Given the description of an element on the screen output the (x, y) to click on. 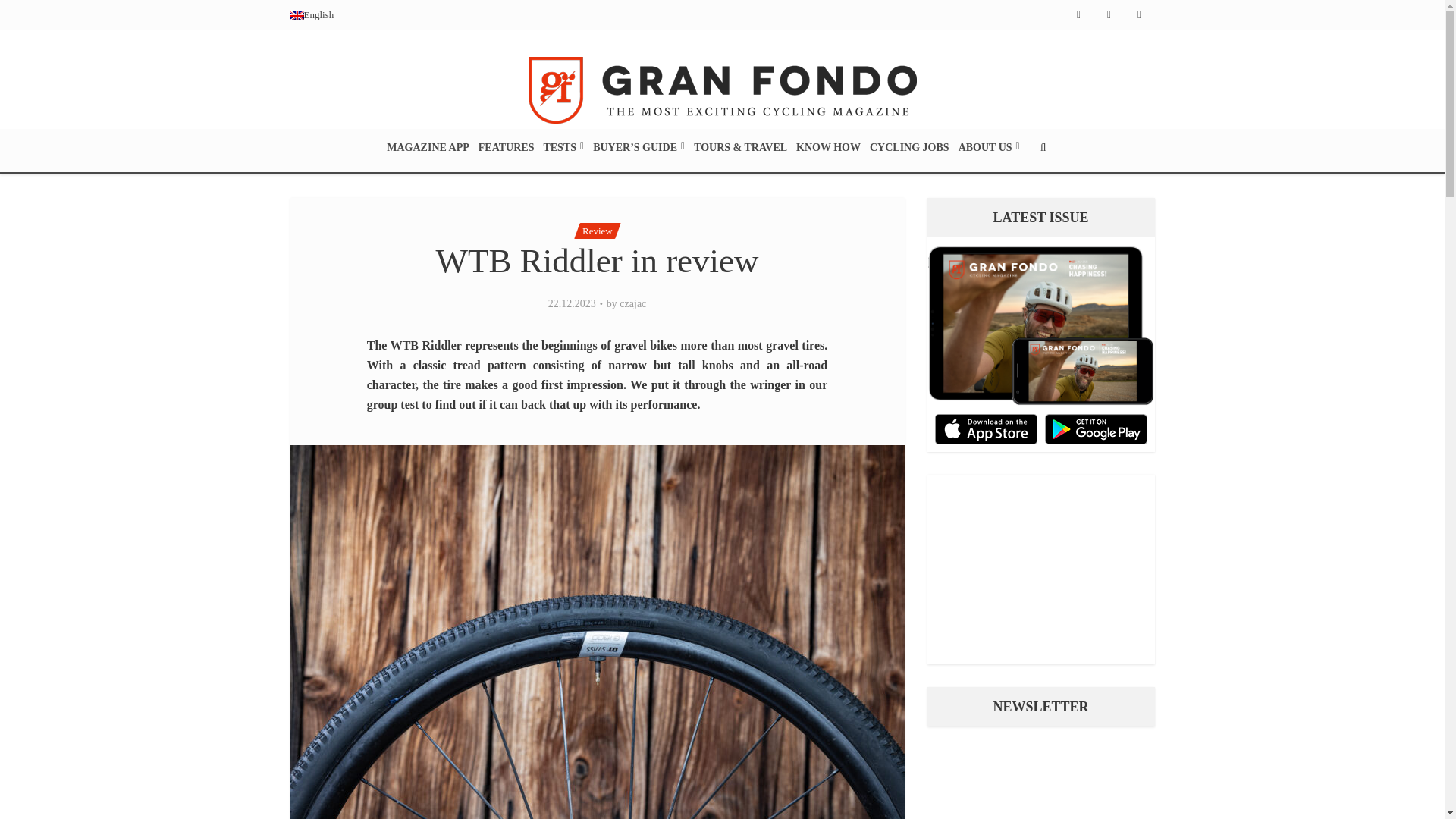
TESTS (563, 147)
ABOUT US (989, 147)
GRAN FONDO Cycling Magazine (721, 88)
English (311, 14)
Review (593, 230)
FEATURES (506, 147)
KNOW HOW (828, 147)
CYCLING JOBS (908, 147)
MAGAZINE APP (427, 147)
czajac (633, 304)
English (311, 14)
